Given the description of an element on the screen output the (x, y) to click on. 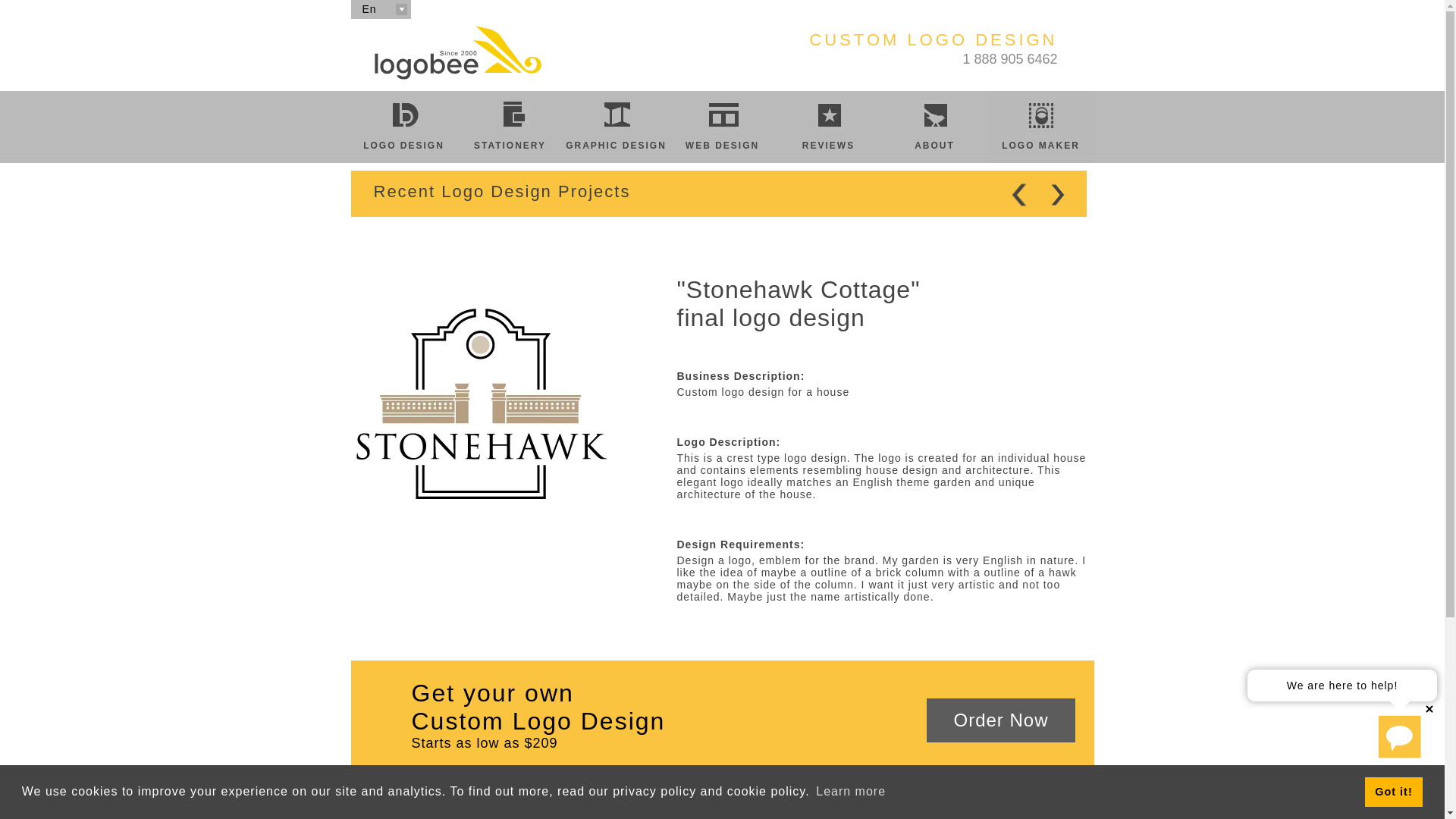
LOGO DESIGN (403, 126)
REVIEWS (827, 126)
CUSTOM LOGO DESIGN (933, 47)
Got it! (1393, 791)
WEB DESIGN (721, 126)
Logo Design (456, 52)
GRAPHIC DESIGN (615, 126)
Learn more (850, 791)
ABOUT (933, 126)
STATIONERY (509, 126)
